Given the description of an element on the screen output the (x, y) to click on. 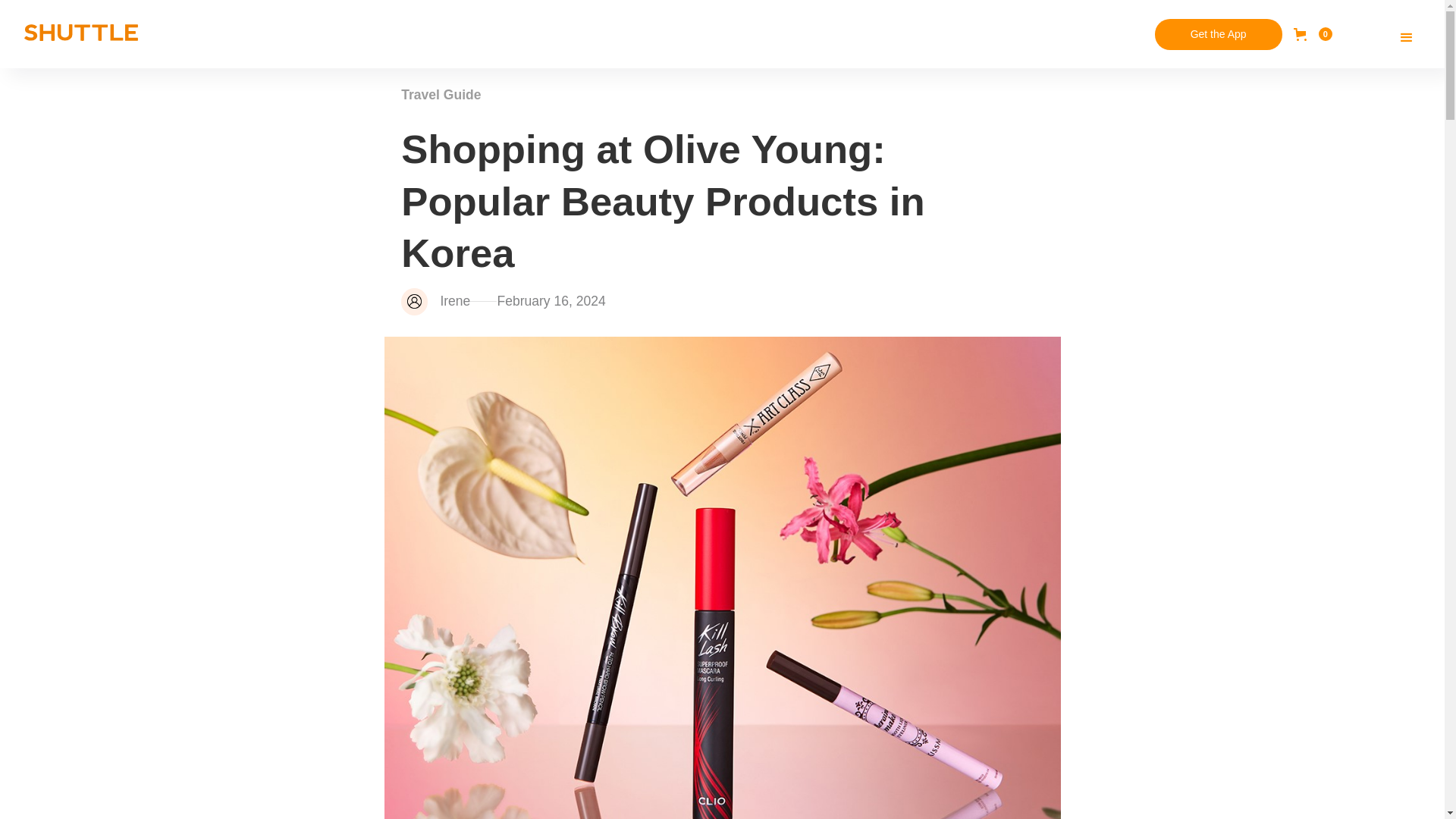
0 (1312, 33)
Get the App (1218, 33)
